Given the description of an element on the screen output the (x, y) to click on. 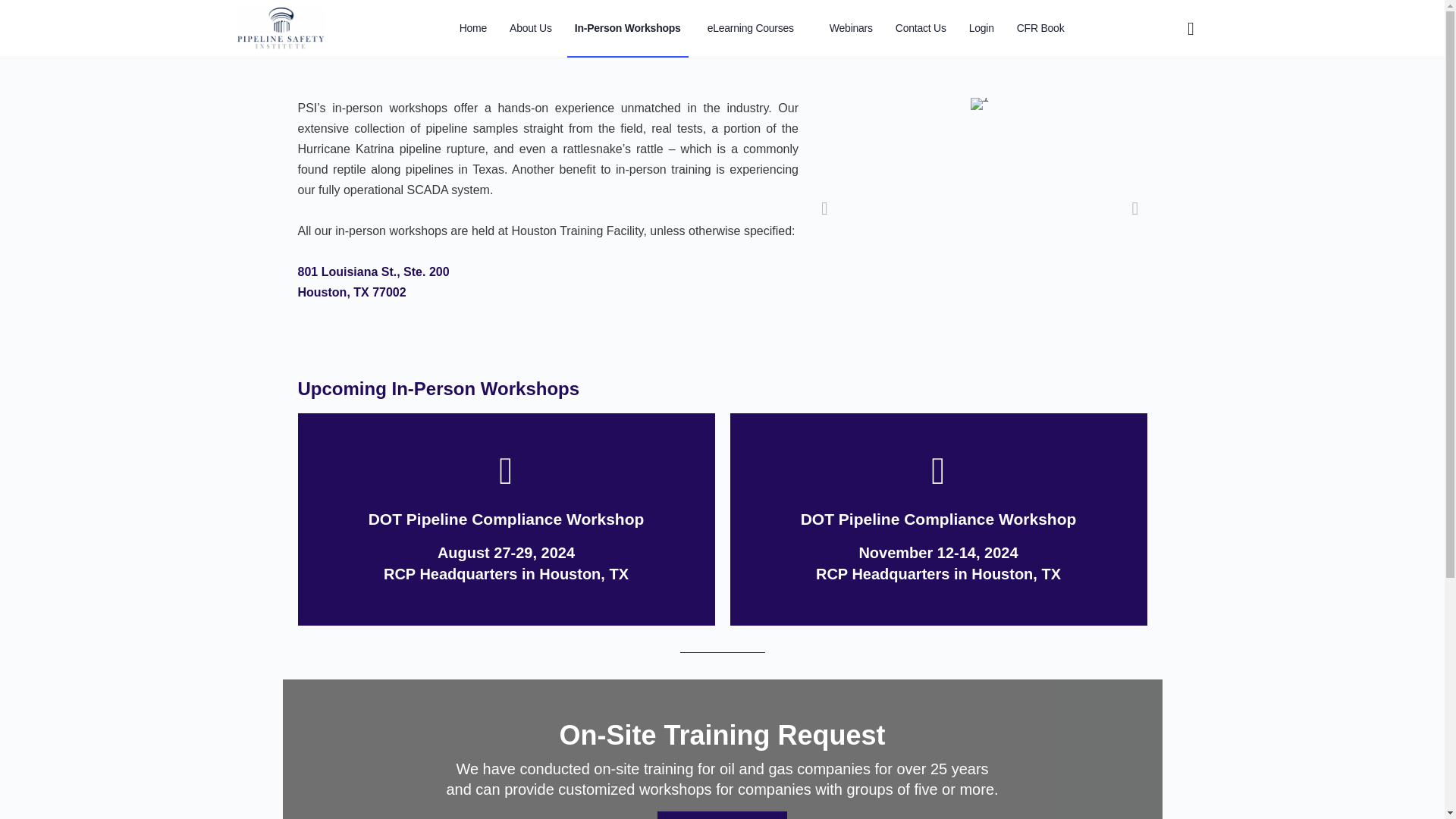
Webinars (851, 28)
About Us (530, 28)
eLearning Courses (756, 28)
CFR Book (1040, 28)
Contact Us (920, 28)
In-Person Workshops (627, 28)
